Given the description of an element on the screen output the (x, y) to click on. 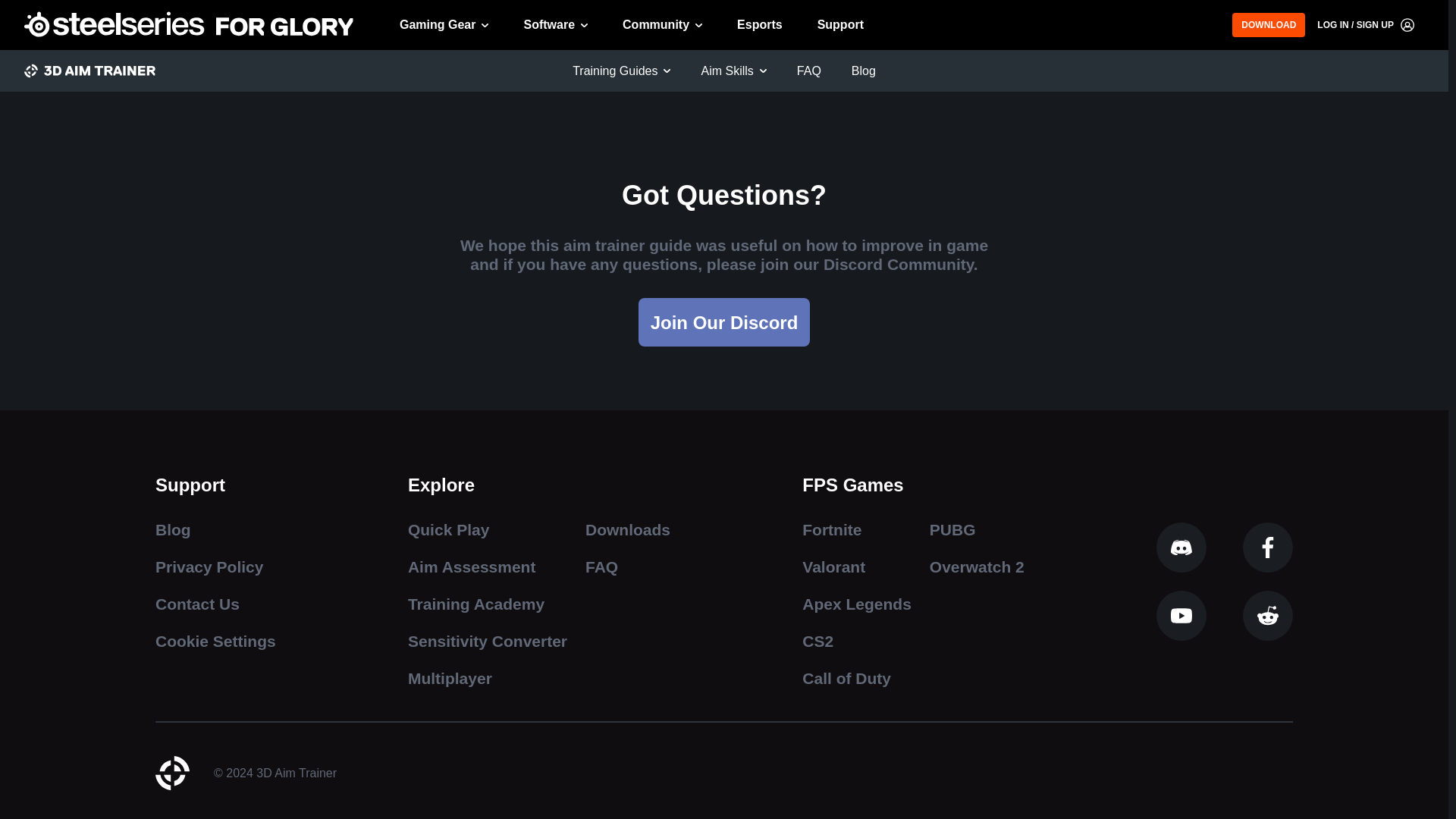
Privacy Policy (215, 566)
Quick Play (487, 529)
Multiplayer (487, 678)
Aim Assessment (487, 566)
Training Academy (487, 603)
Join Our Discord (724, 322)
PUBG Mouse Sensitivity Converter (656, 10)
Blog (215, 529)
Sensitivity Converter (487, 640)
Contact Us (215, 603)
